Given the description of an element on the screen output the (x, y) to click on. 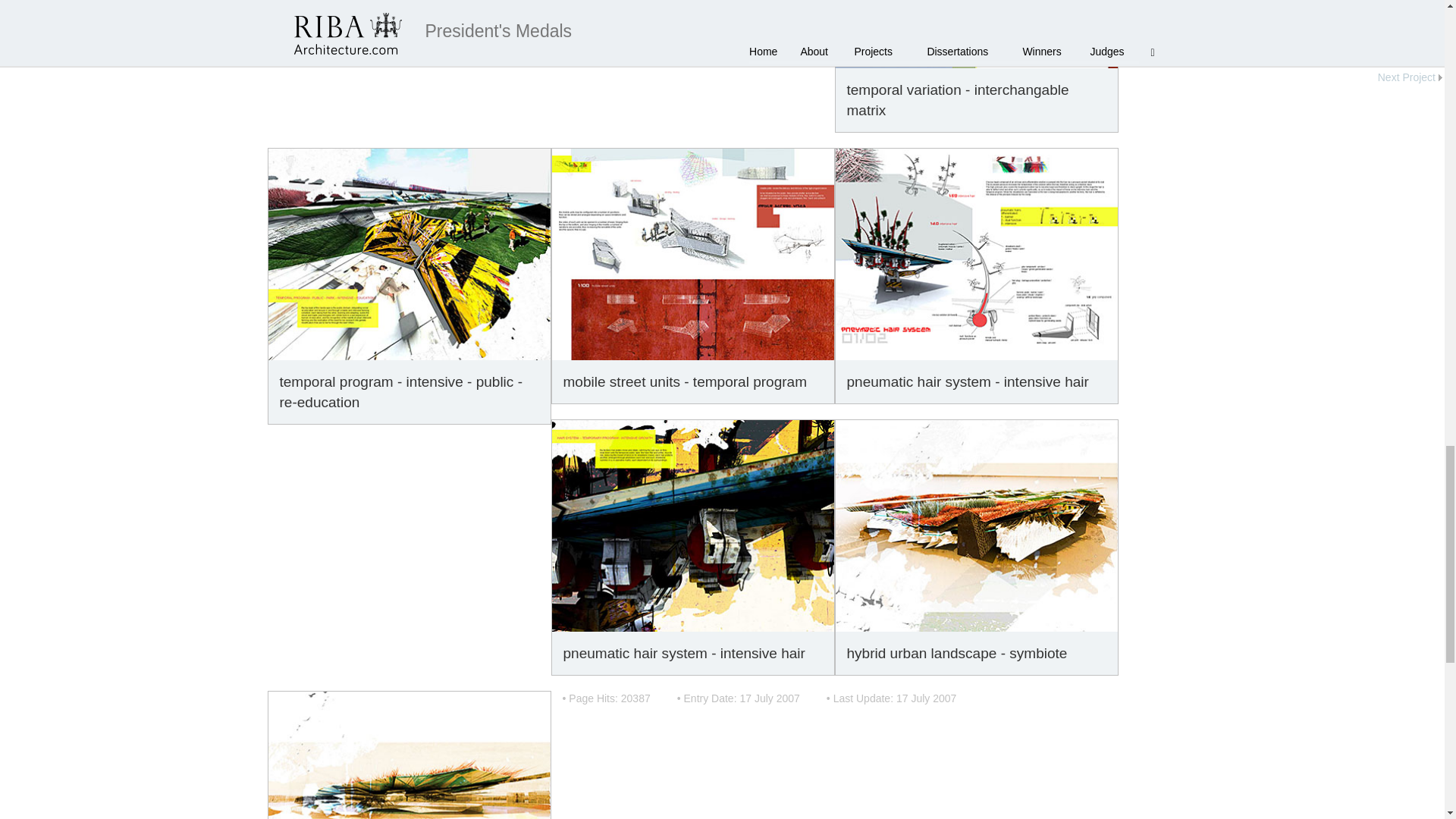
temporal variation - interchangable matrix (976, 33)
